Given the description of an element on the screen output the (x, y) to click on. 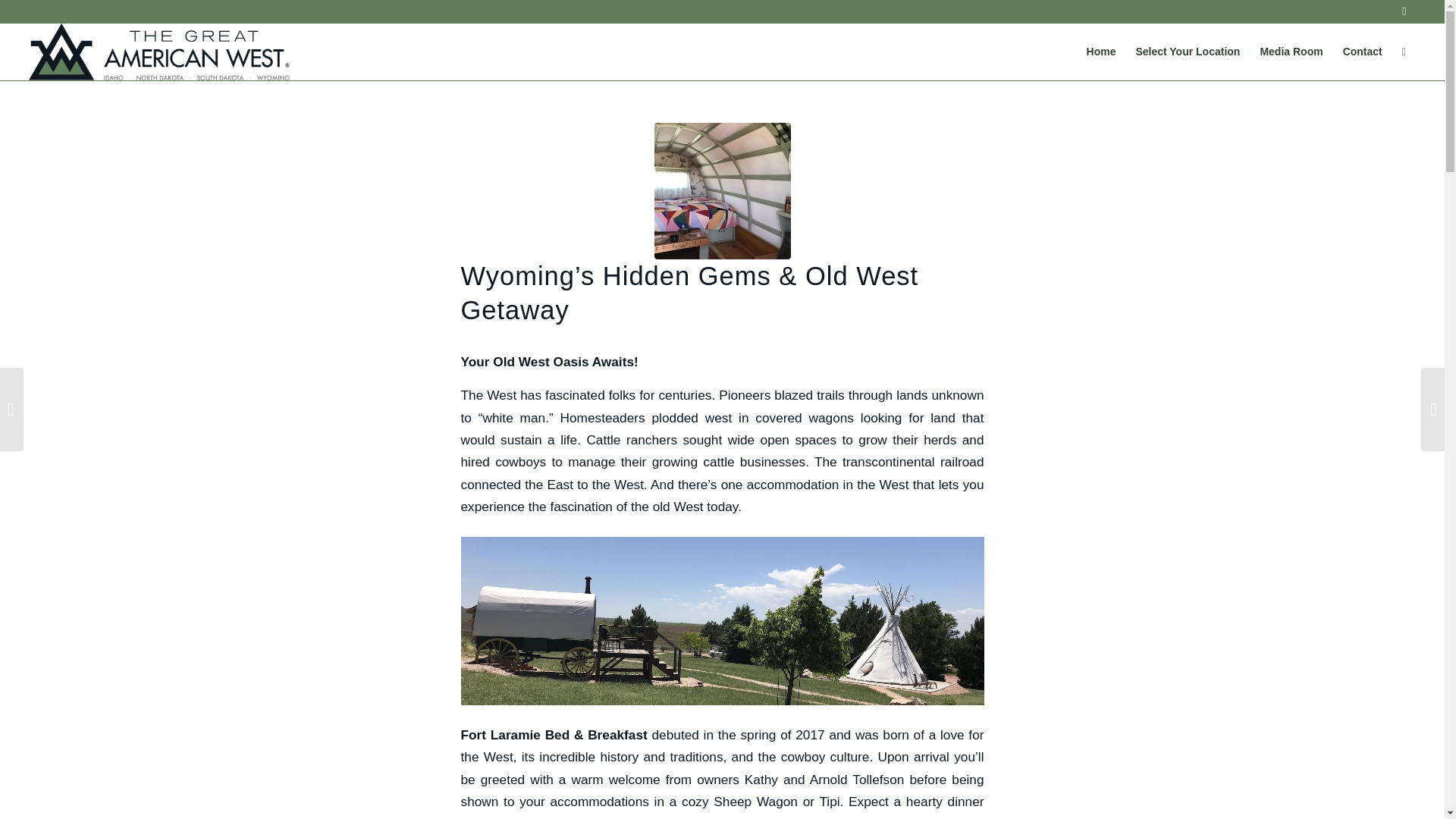
Media Room (1290, 51)
Horizontal tagline (159, 51)
Sheep Wagon Double Bed Table Pullout Stove Jun 9 2019 (721, 190)
Contact (1362, 51)
Select Your Location (1187, 51)
Instagram (1404, 11)
